Given the description of an element on the screen output the (x, y) to click on. 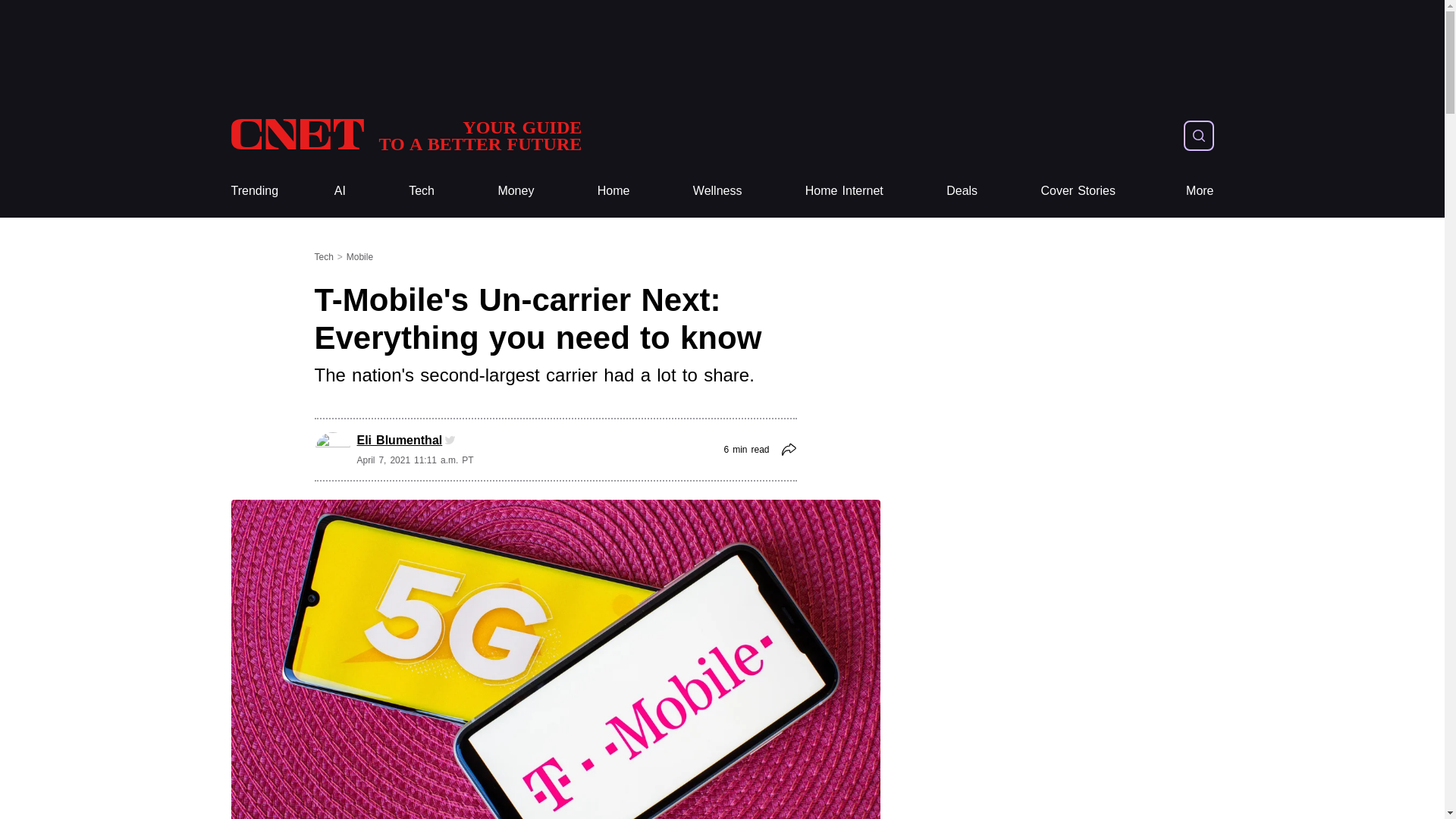
Tech (421, 190)
Home Internet (844, 190)
Home (613, 190)
Money (515, 190)
Trending (405, 135)
Cover Stories (254, 190)
Home (1078, 190)
More (613, 190)
Deals (1199, 190)
Money (961, 190)
Home Internet (515, 190)
Trending (844, 190)
Tech (254, 190)
Wellness (421, 190)
